Given the description of an element on the screen output the (x, y) to click on. 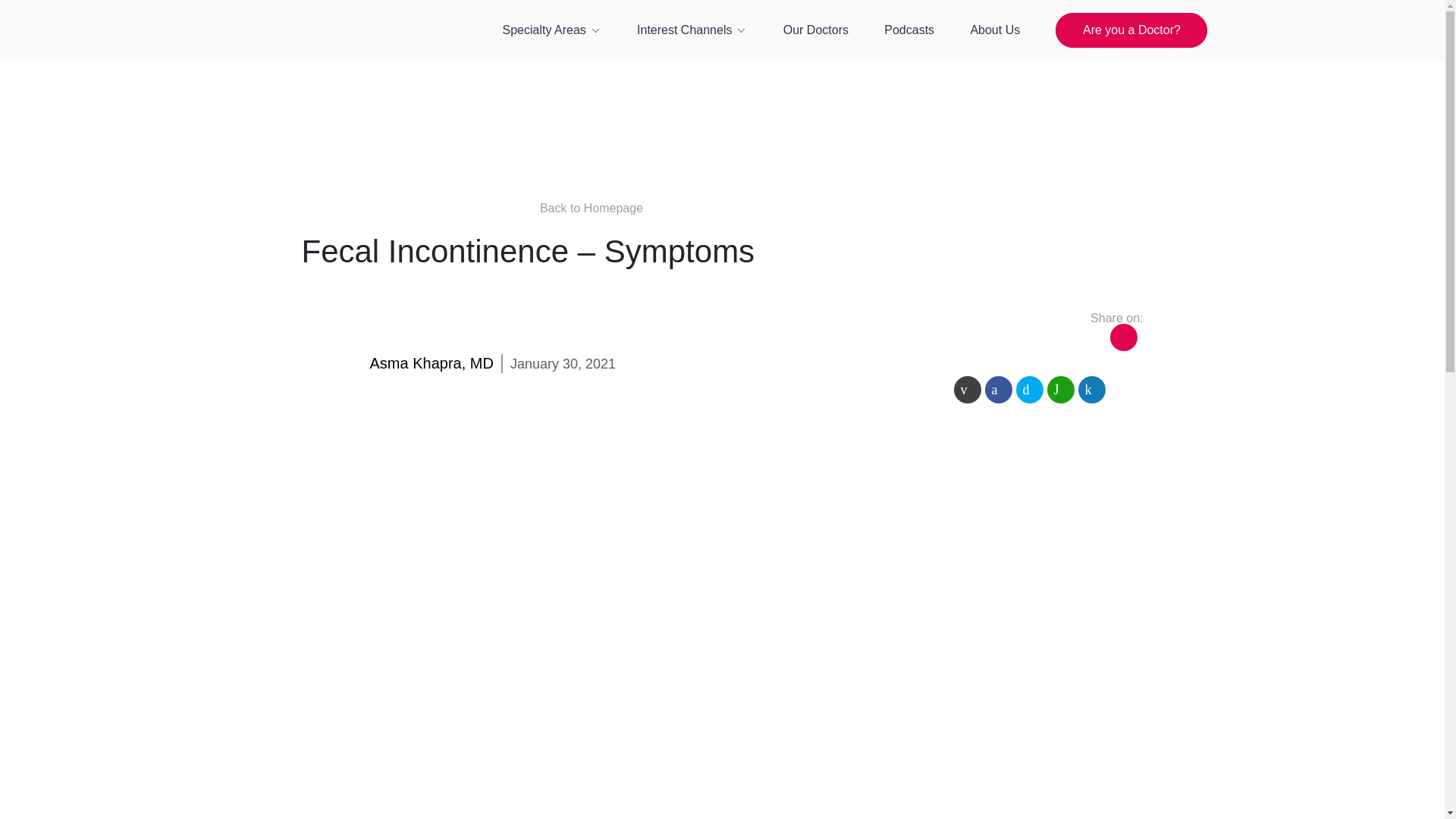
Interest Channels (691, 29)
Doctorpedia (316, 56)
About Us (994, 29)
Share on Email (967, 389)
Share on WhatsApp (1060, 389)
Are you a Doctor? (1131, 30)
Share on Twitter (1029, 389)
Specialty Areas (550, 29)
Our Doctors (815, 29)
Share on Facebook (997, 389)
